Given the description of an element on the screen output the (x, y) to click on. 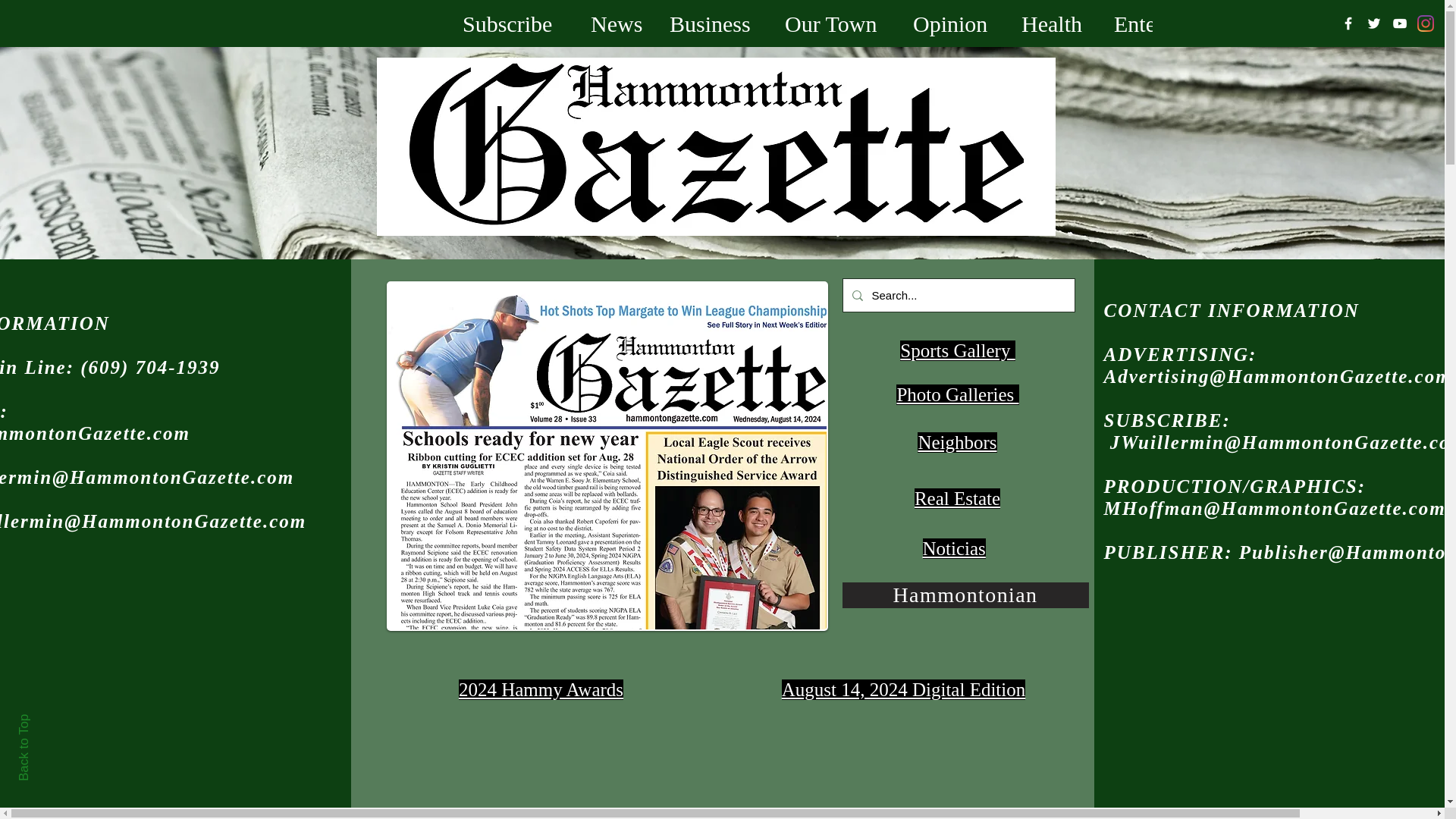
Health (1056, 23)
Sports (1324, 23)
News (618, 23)
Opinion (955, 23)
Entertainment (1190, 23)
Our Town (837, 23)
Subscribe (515, 23)
Business (715, 23)
